Given the description of an element on the screen output the (x, y) to click on. 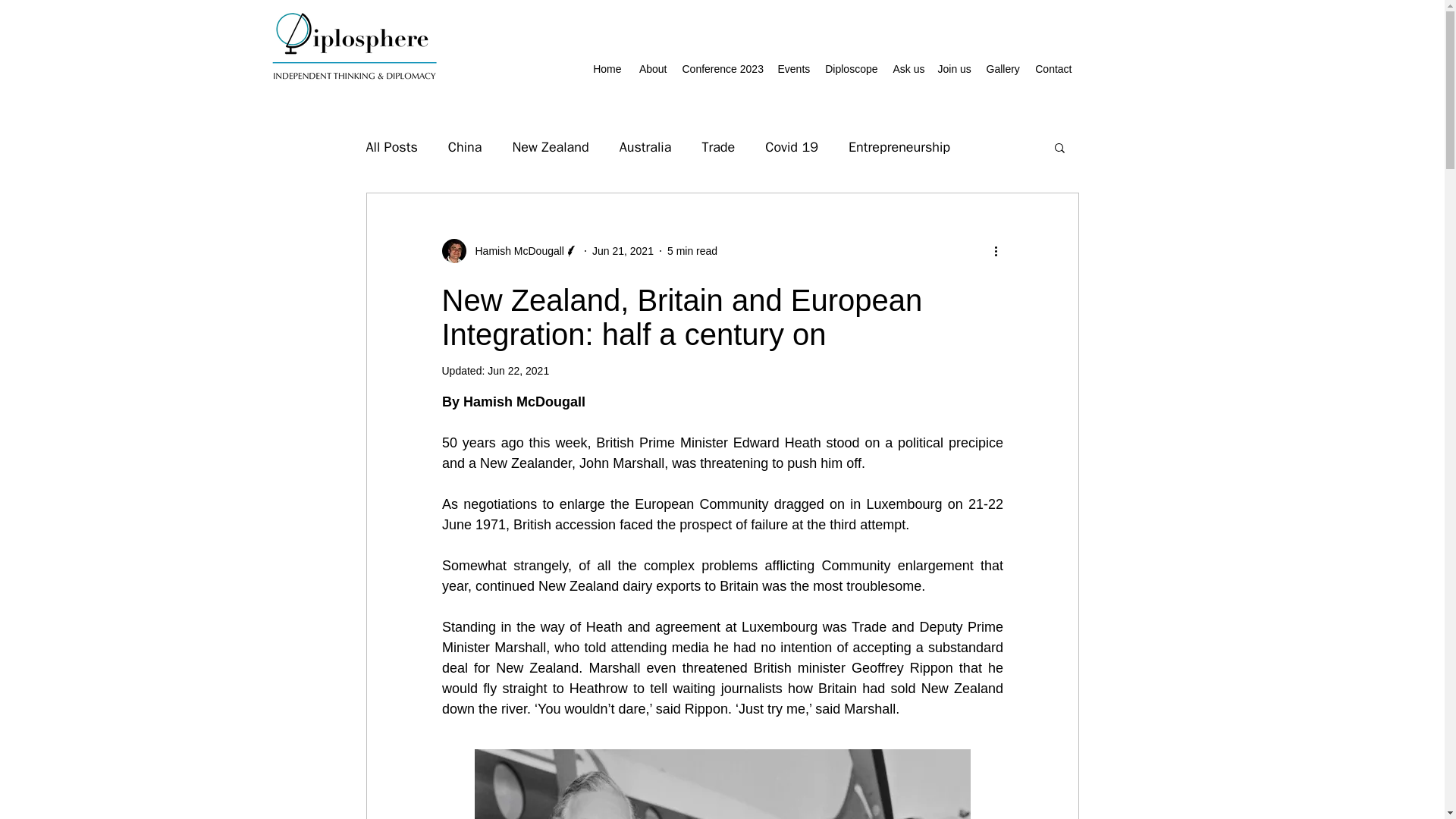
New Zealand (550, 147)
Conference 2023 (722, 68)
Gallery (1002, 68)
Ask us (907, 68)
Entrepreneurship (899, 147)
Australia (645, 147)
Covid 19 (791, 147)
Home (606, 68)
All Posts (390, 147)
Jun 22, 2021 (517, 370)
Hamish McDougall (509, 250)
Hamish McDougall (514, 250)
Trade (718, 147)
Jun 21, 2021 (622, 250)
Diploscope (850, 68)
